Given the description of an element on the screen output the (x, y) to click on. 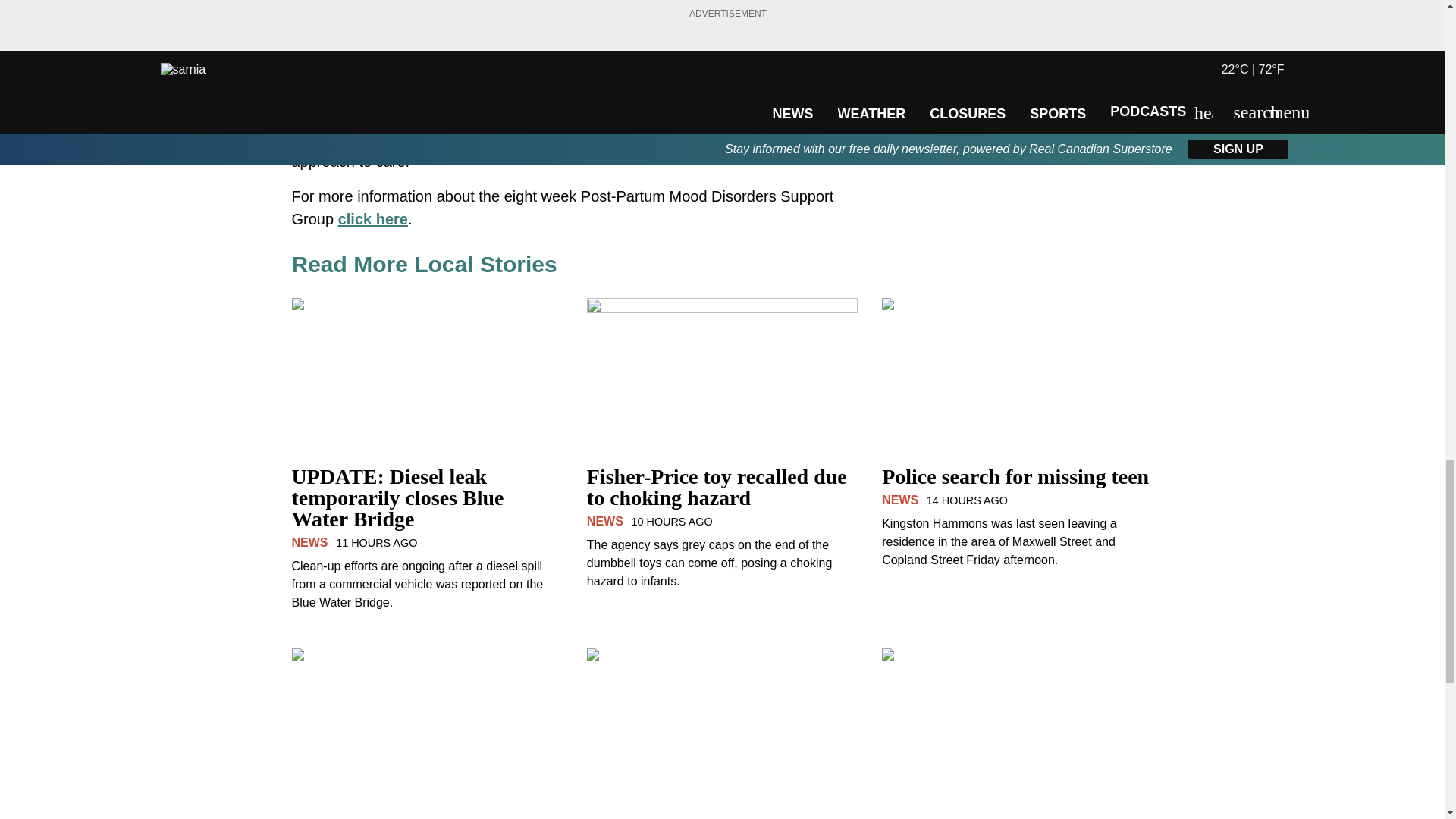
Fisher-Price toy recalled due to choking hazard (721, 496)
UPDATE: Diesel leak temporarily closes Blue Water Bridge (426, 507)
click here (372, 218)
NEWS (604, 521)
NEWS (309, 542)
